Given the description of an element on the screen output the (x, y) to click on. 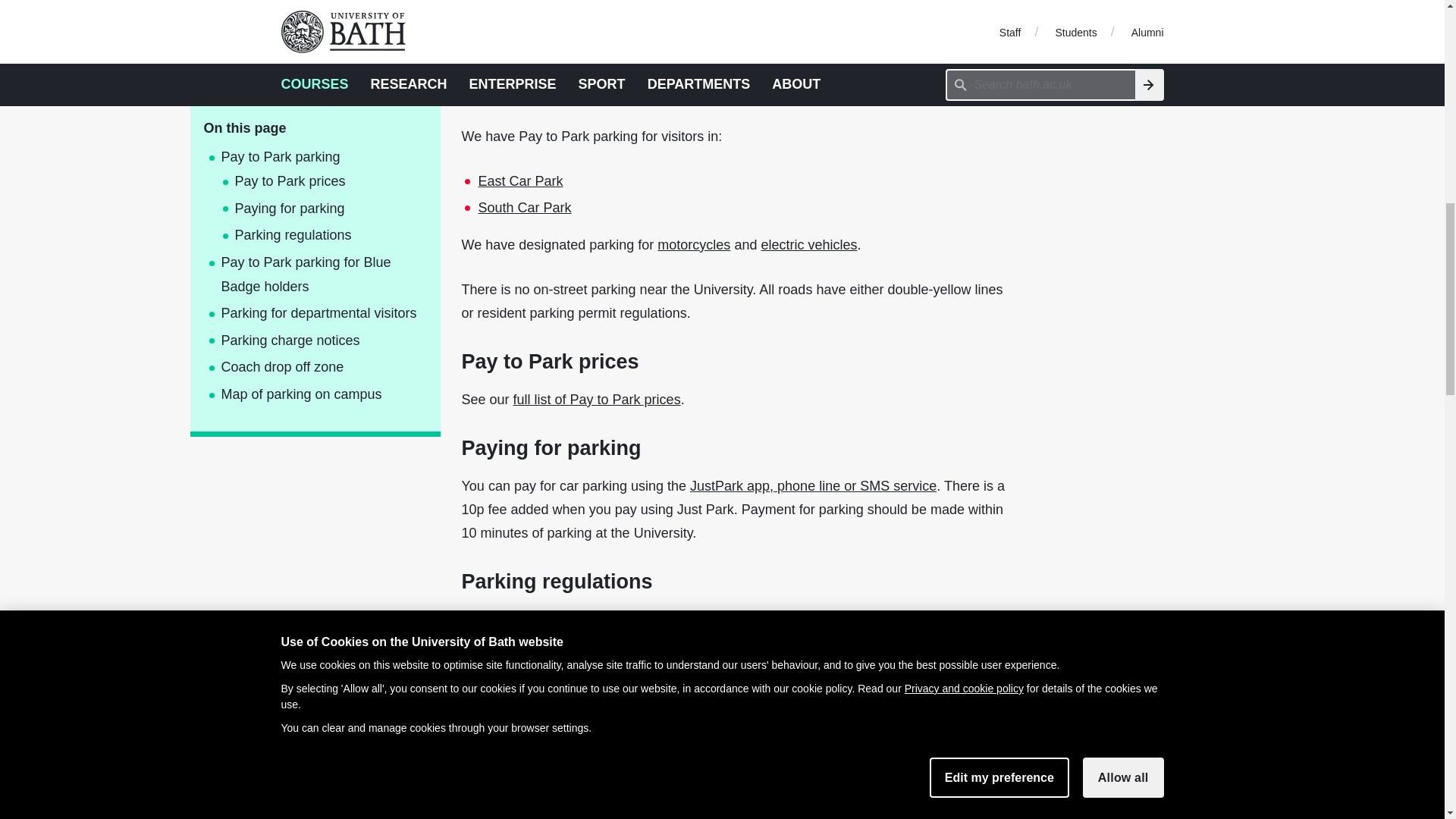
Parking regulations (307, 102)
Pay to Park parking (307, 24)
Pay to Park parking for Blue Badge holders (307, 141)
Parking charge notices (307, 207)
Map of parking on campus (307, 261)
Coach drop off zone (307, 233)
Paying for parking (307, 75)
Parking for departmental visitors (307, 180)
Pay to Park prices (307, 48)
